Given the description of an element on the screen output the (x, y) to click on. 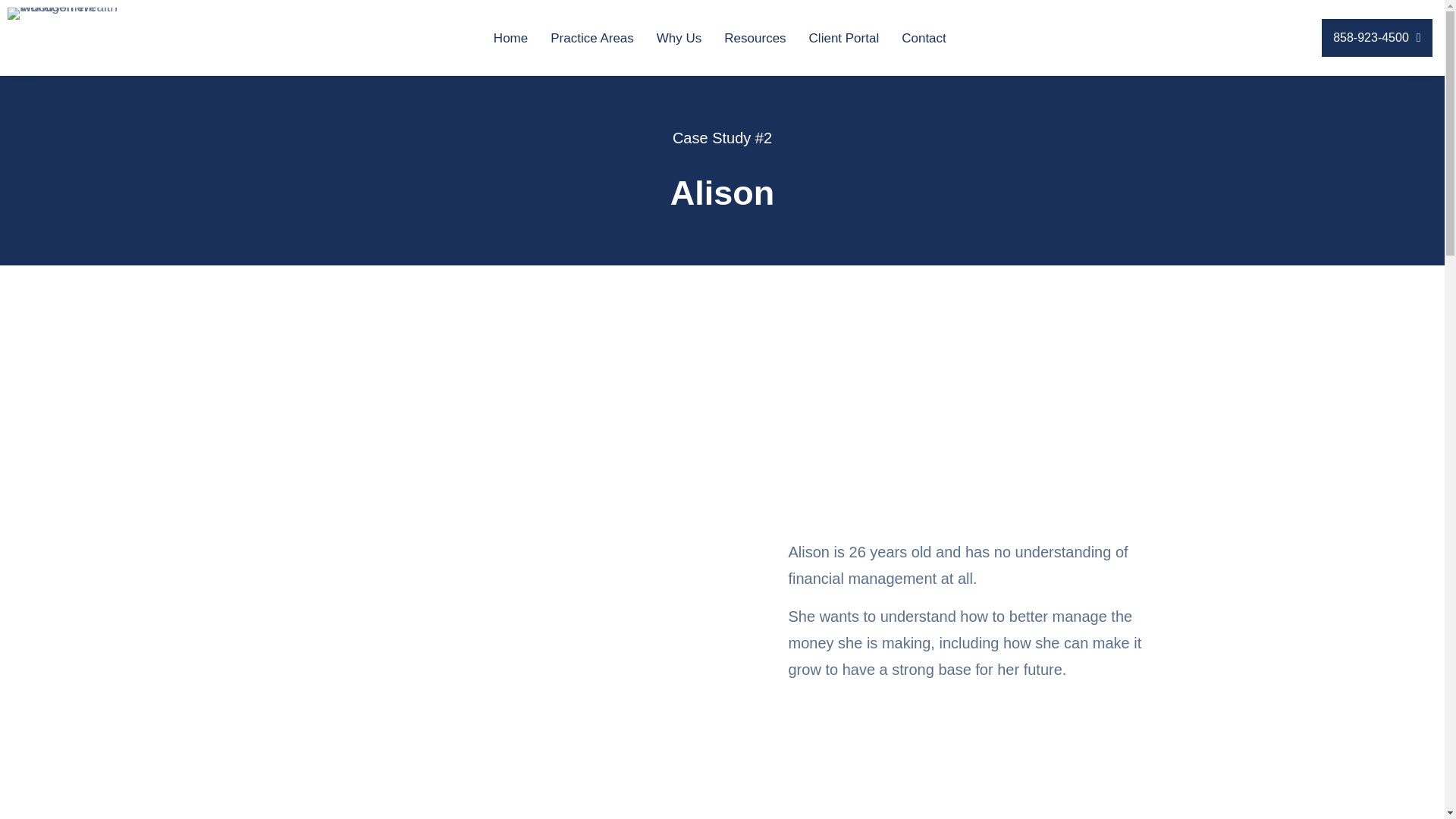
858-923-4500 (1376, 37)
Contact (923, 37)
Why Us (678, 37)
Client Portal (844, 37)
Resources (754, 37)
Why Us (678, 37)
Resources (754, 37)
Practice Areas (591, 37)
Practice Areas (591, 37)
